Given the description of an element on the screen output the (x, y) to click on. 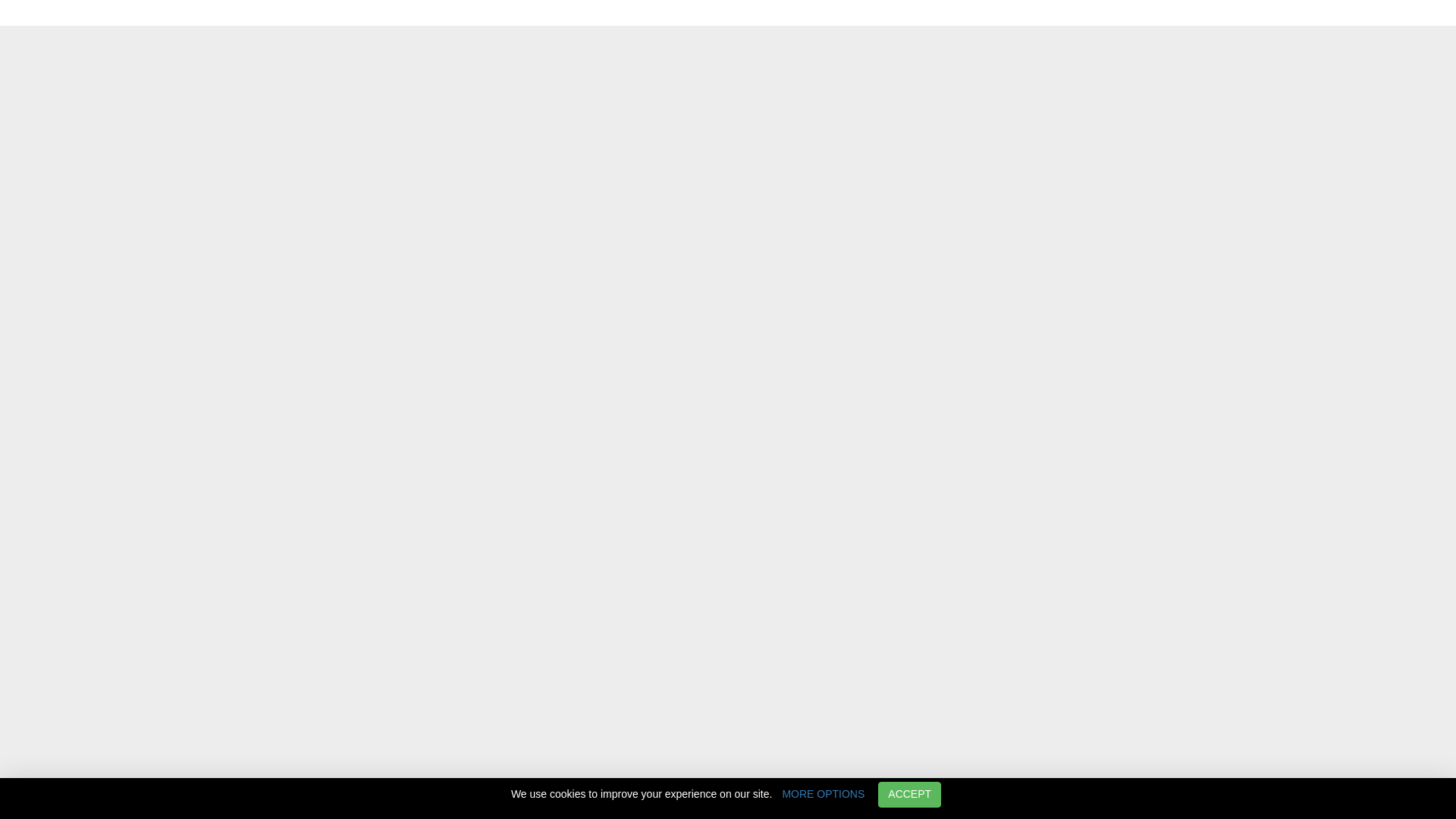
ACCEPT (908, 794)
MORE OPTIONS (823, 794)
